Given the description of an element on the screen output the (x, y) to click on. 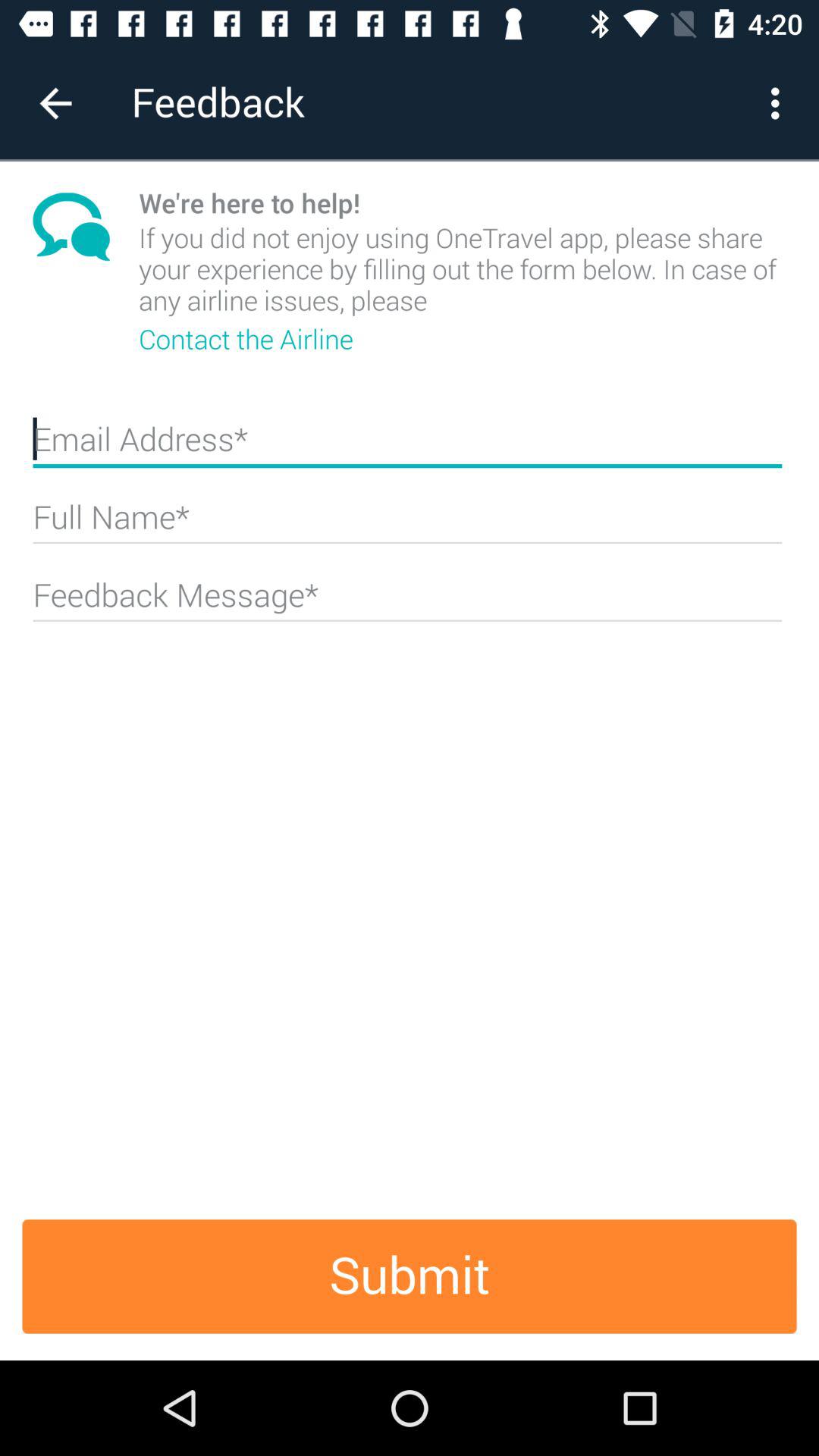
scroll to submit item (409, 1276)
